Given the description of an element on the screen output the (x, y) to click on. 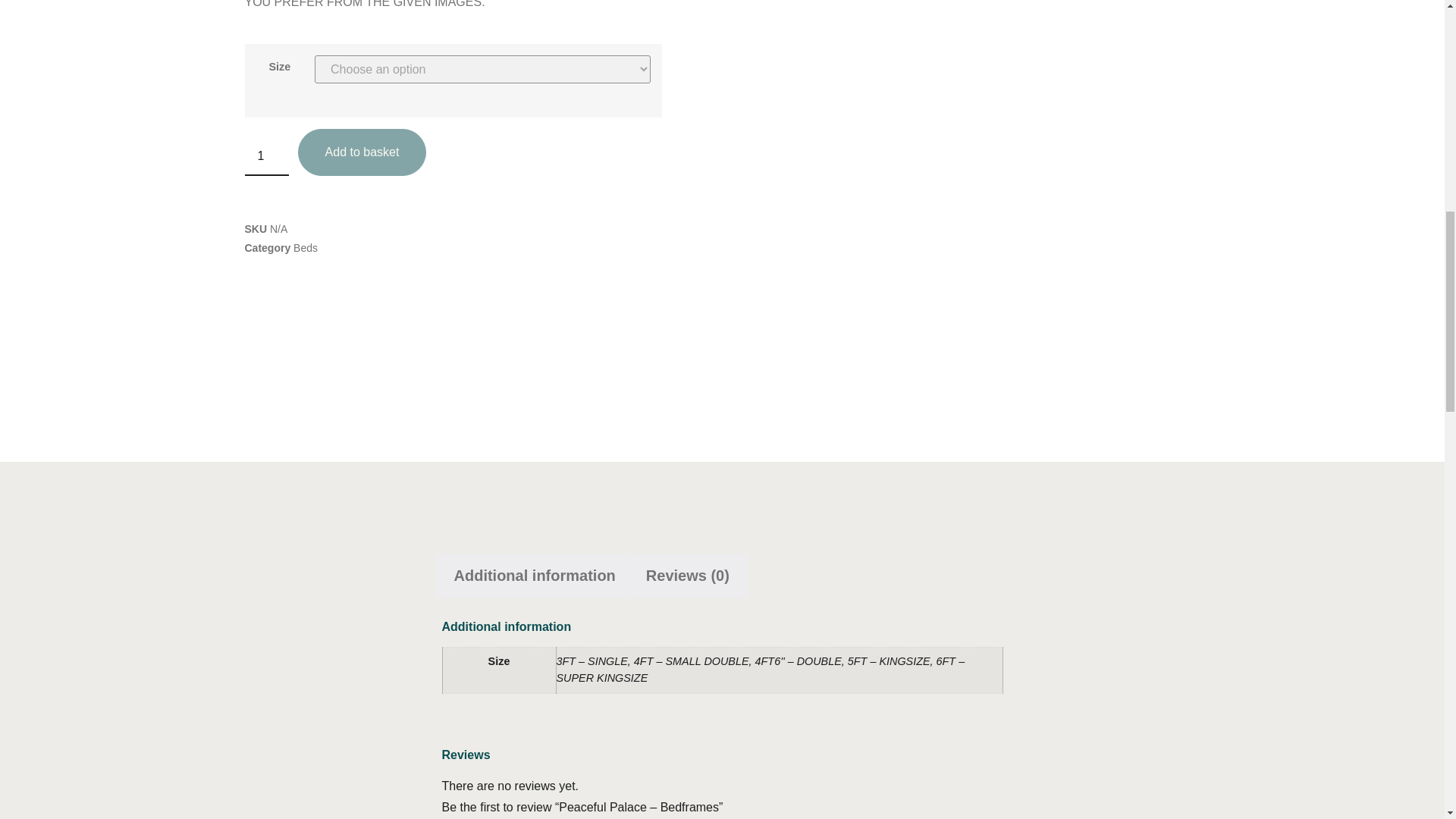
Add to basket (362, 152)
Additional information (534, 575)
Beds (305, 246)
1 (266, 152)
